Given the description of an element on the screen output the (x, y) to click on. 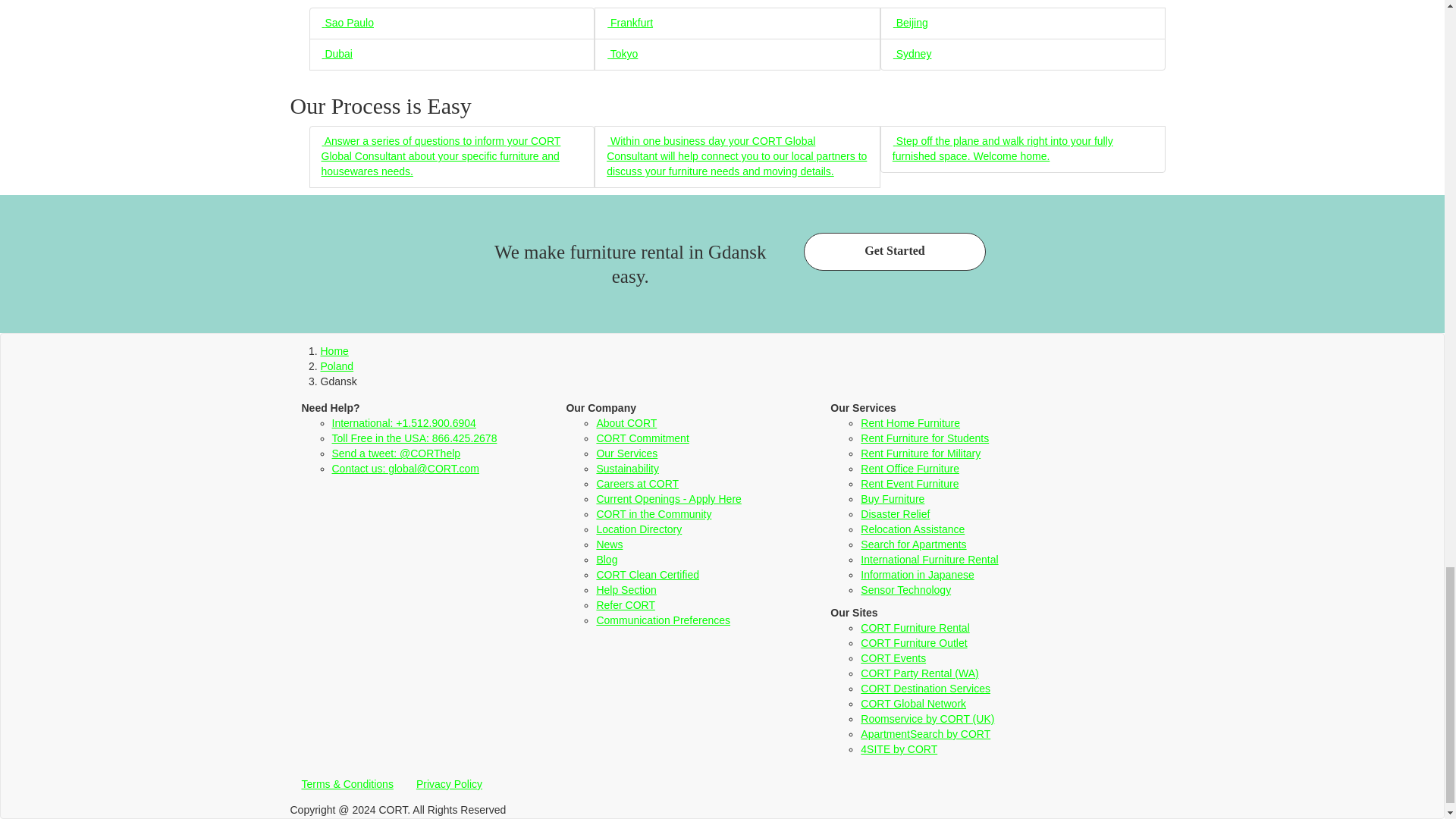
Dubai (336, 53)
Sao Paulo (347, 22)
Beijing (910, 22)
Sydney (911, 53)
Tokyo (622, 53)
Frankfurt (629, 22)
Poland (336, 366)
